Given the description of an element on the screen output the (x, y) to click on. 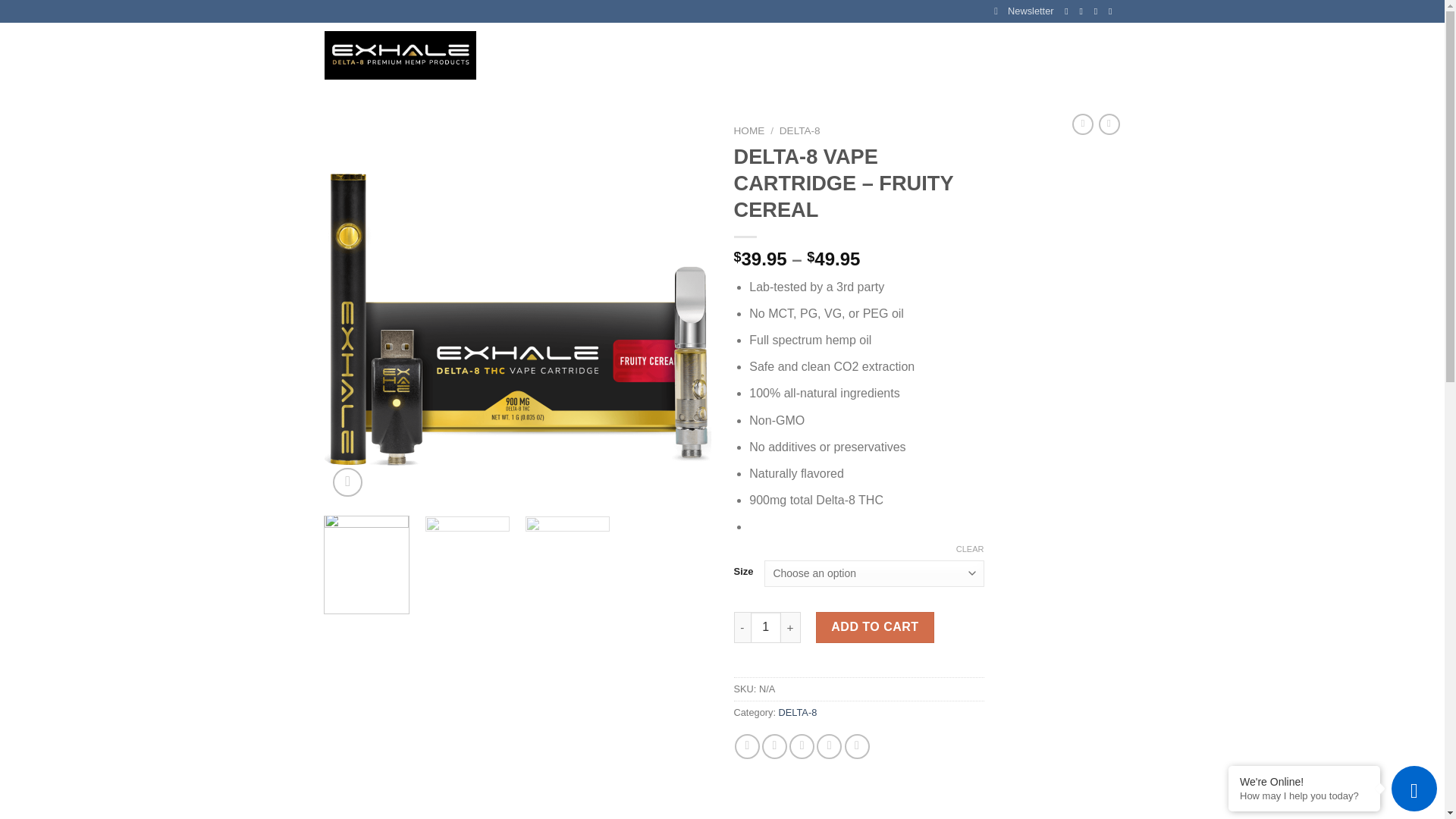
BLOG (715, 54)
LOGIN (983, 55)
DELTA-8 (799, 130)
Qty (765, 626)
Zoom (347, 482)
CLEAR (970, 548)
HOME (749, 130)
ABOUT (627, 54)
HOME (525, 54)
Cart (1075, 55)
SHOP (673, 54)
CONTACT (574, 54)
Newsletter (1023, 11)
